Given the description of an element on the screen output the (x, y) to click on. 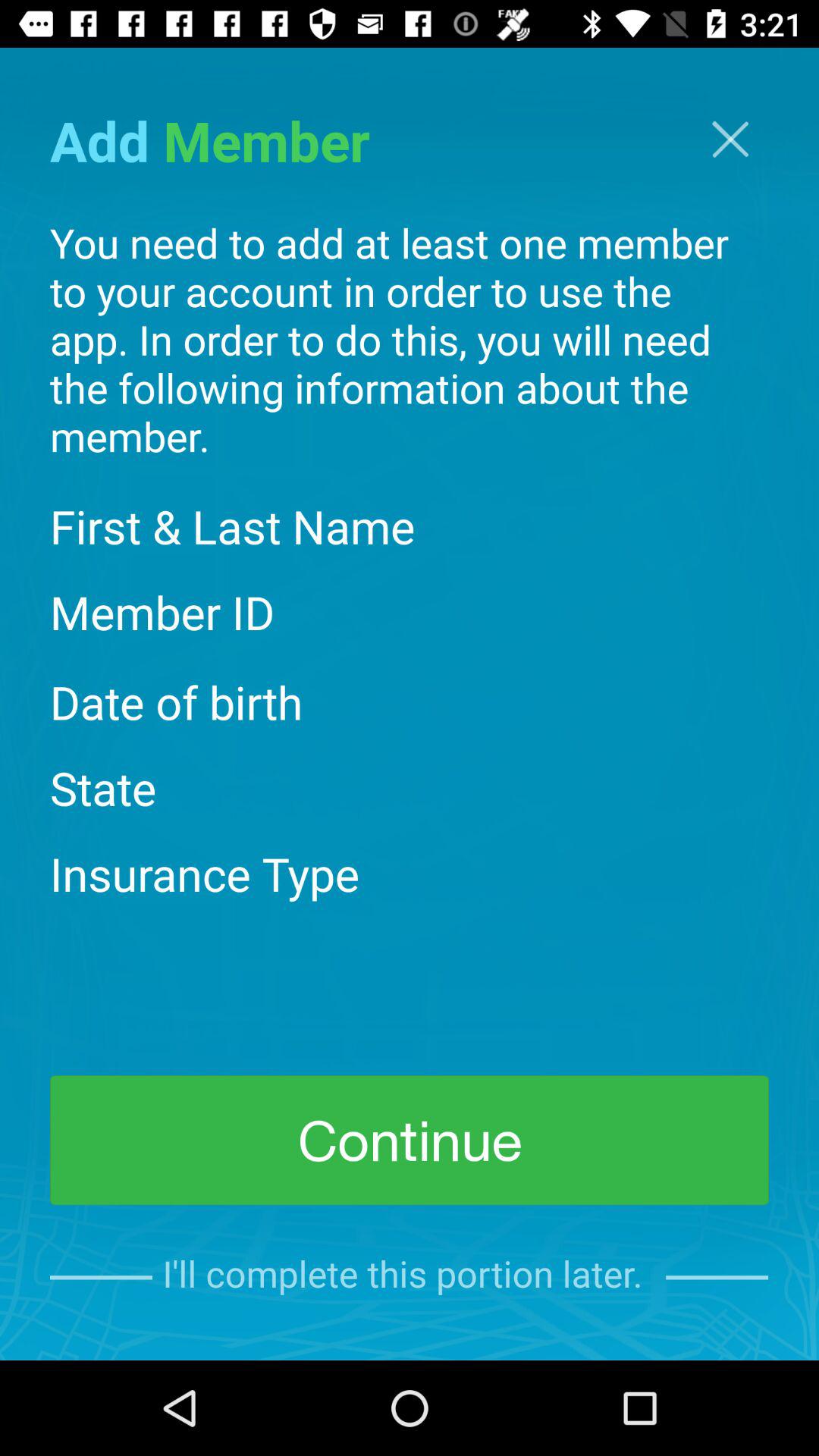
click the item at the top right corner (730, 139)
